Given the description of an element on the screen output the (x, y) to click on. 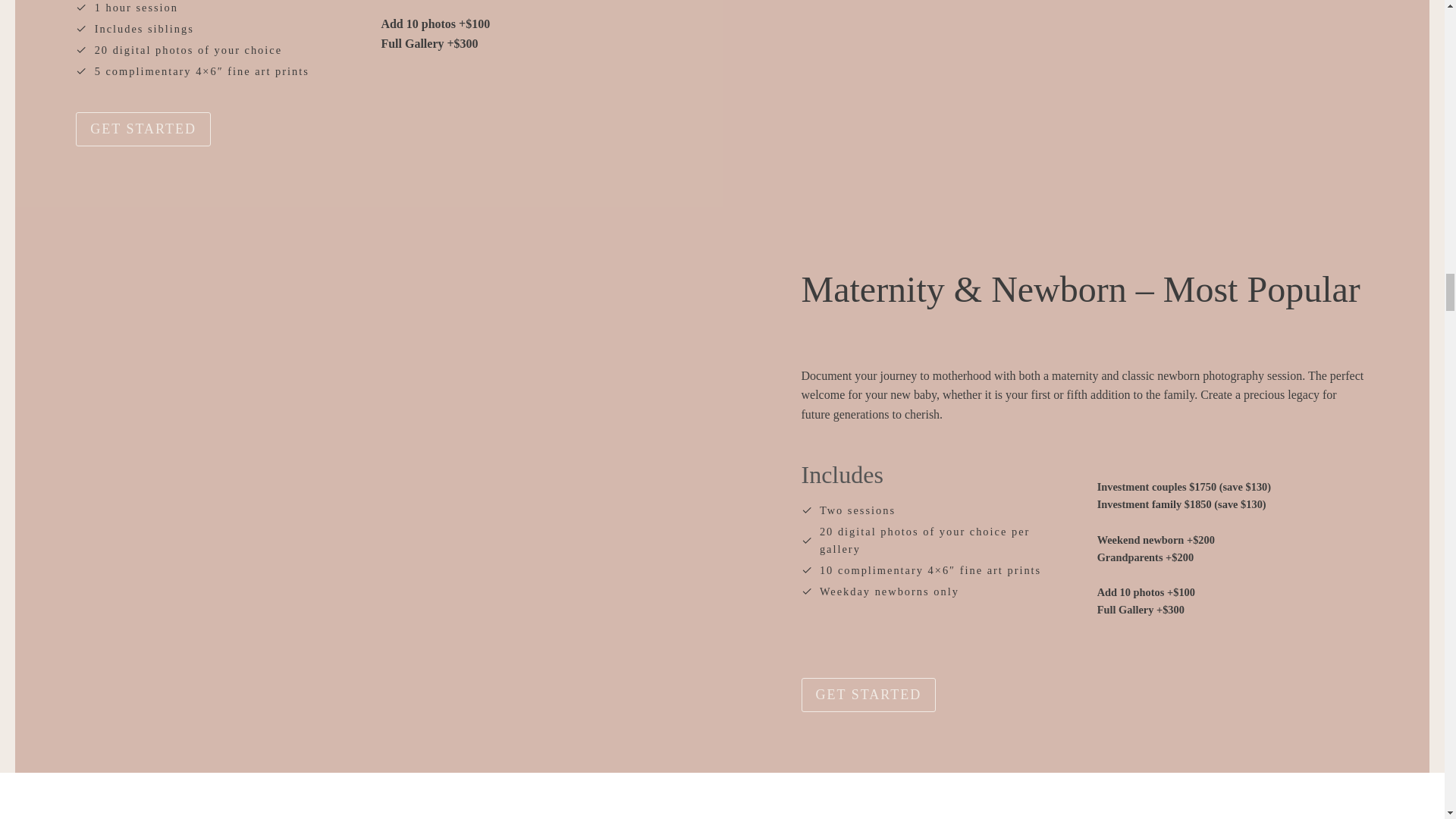
Newborn (1058, 289)
classic newborn photography (1193, 375)
GET STARTED (868, 694)
newborn (1162, 539)
new baby (912, 394)
newborns (902, 591)
GET STARTED (143, 129)
